Given the description of an element on the screen output the (x, y) to click on. 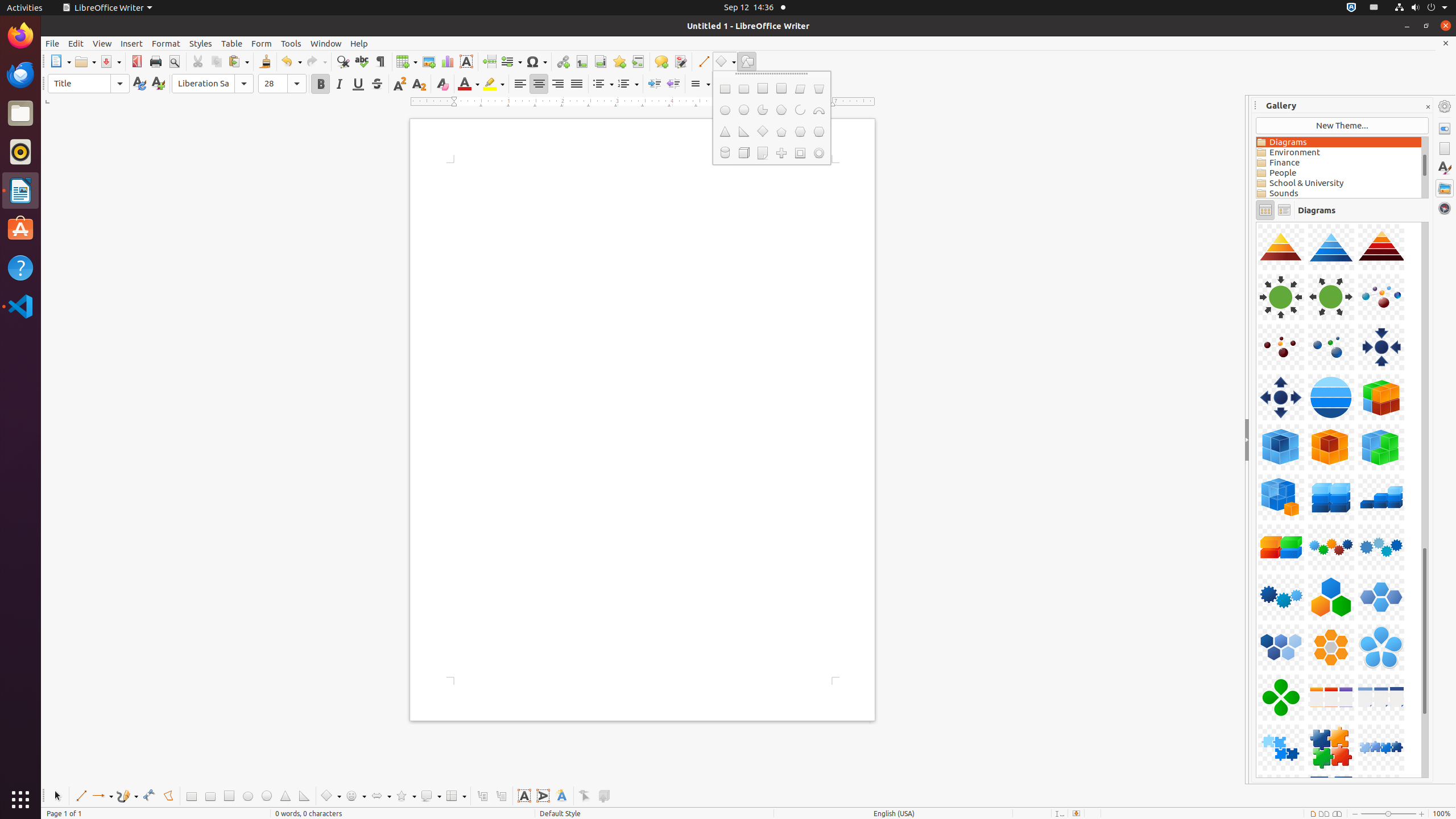
Line Element type: push-button (80, 795)
Bookmark Element type: push-button (618, 61)
Rectangle, Rounded Element type: push-button (209, 795)
Component-Gear02-LightBlue Element type: list-item (1256, 222)
Component-Person02-Blue Element type: list-item (1256, 222)
